Given the description of an element on the screen output the (x, y) to click on. 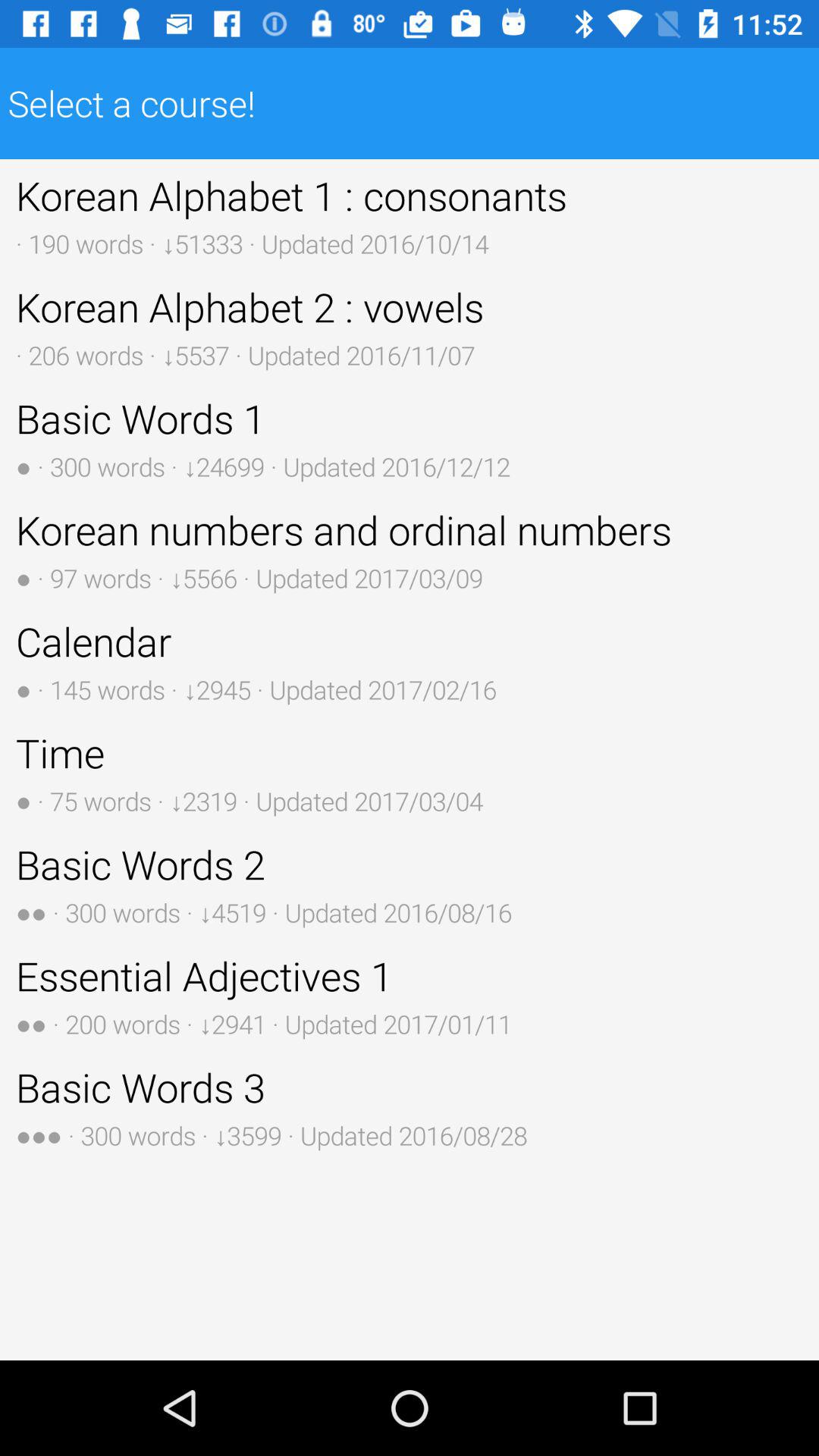
swipe until essential adjectives 1 button (409, 995)
